Given the description of an element on the screen output the (x, y) to click on. 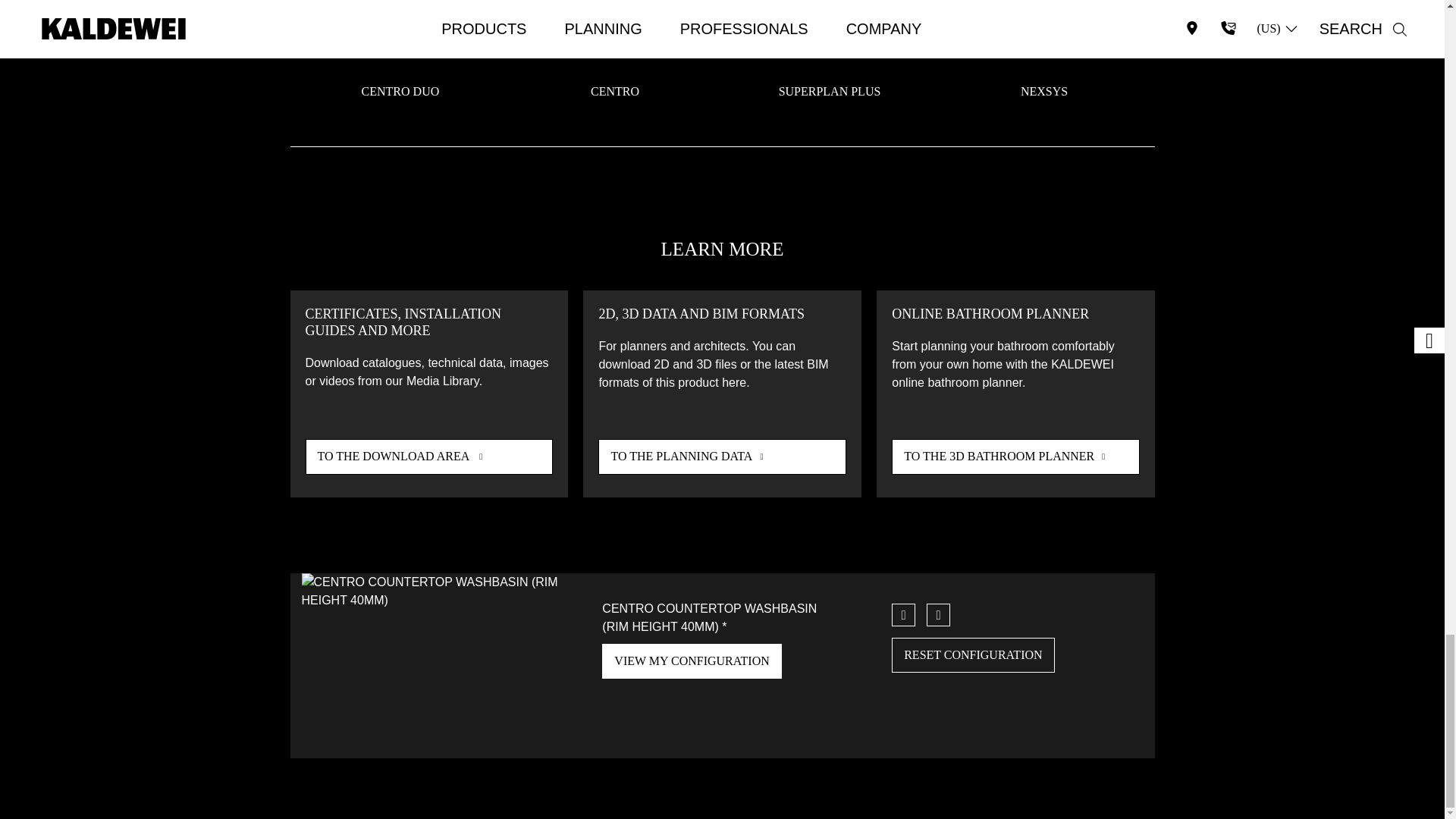
RESET CONFIGURATION (972, 655)
NEXSYS (1043, 91)
CENTRO (615, 91)
TO THE PLANNING DATA (721, 456)
CENTRO DUO (400, 91)
TO THE DOWNLOAD AREA (427, 456)
SUPERPLAN PLUS (829, 91)
TO THE 3D BATHROOM PLANNER (1014, 456)
VIEW MY CONFIGURATION (691, 660)
